Given the description of an element on the screen output the (x, y) to click on. 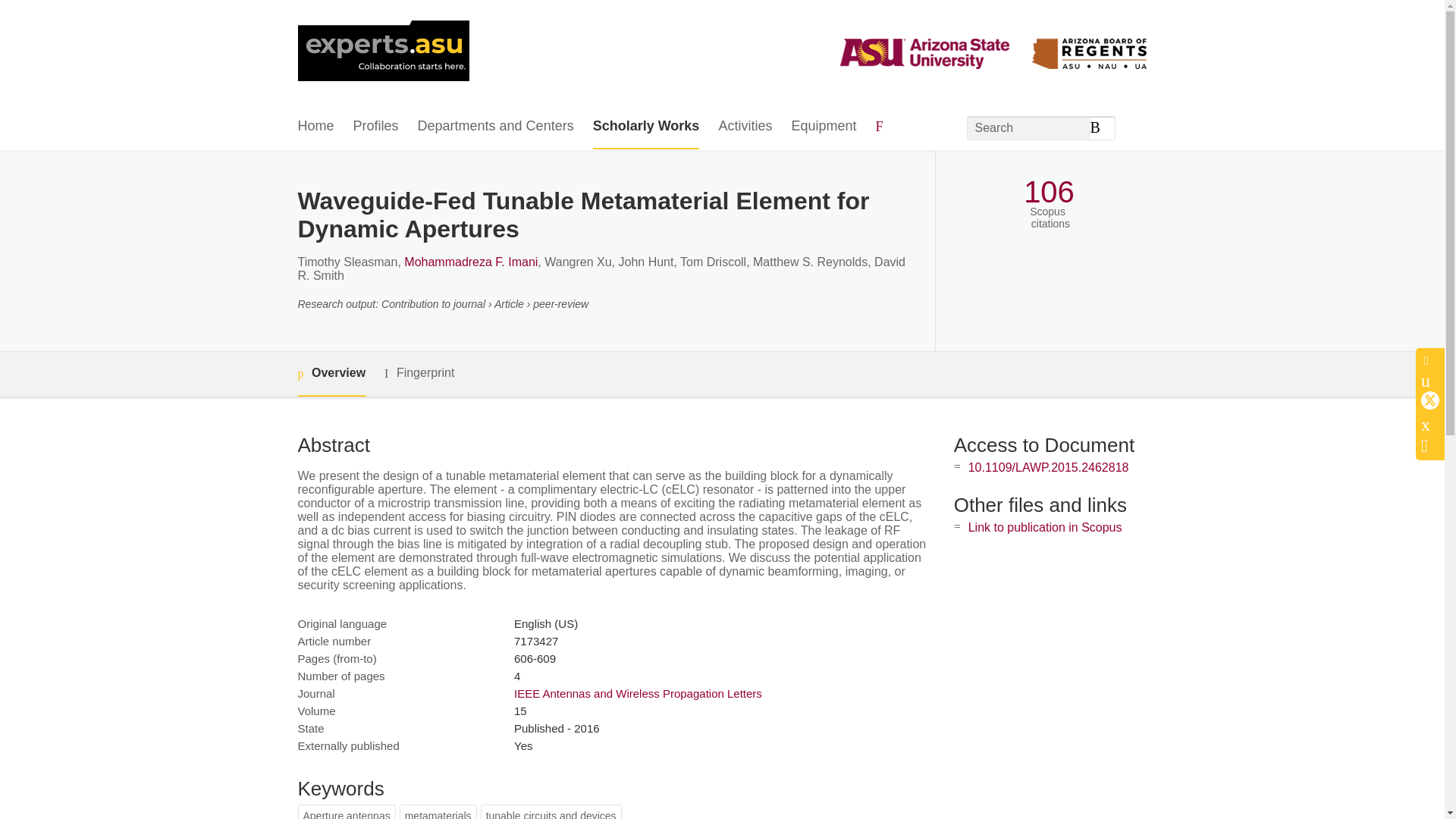
IEEE Antennas and Wireless Propagation Letters (637, 693)
Activities (744, 126)
106 (1048, 192)
Mohammadreza F. Imani (470, 261)
Scholarly Works (646, 126)
Arizona State University Home (382, 52)
Profiles (375, 126)
Departments and Centers (495, 126)
Fingerprint (419, 373)
